Given the description of an element on the screen output the (x, y) to click on. 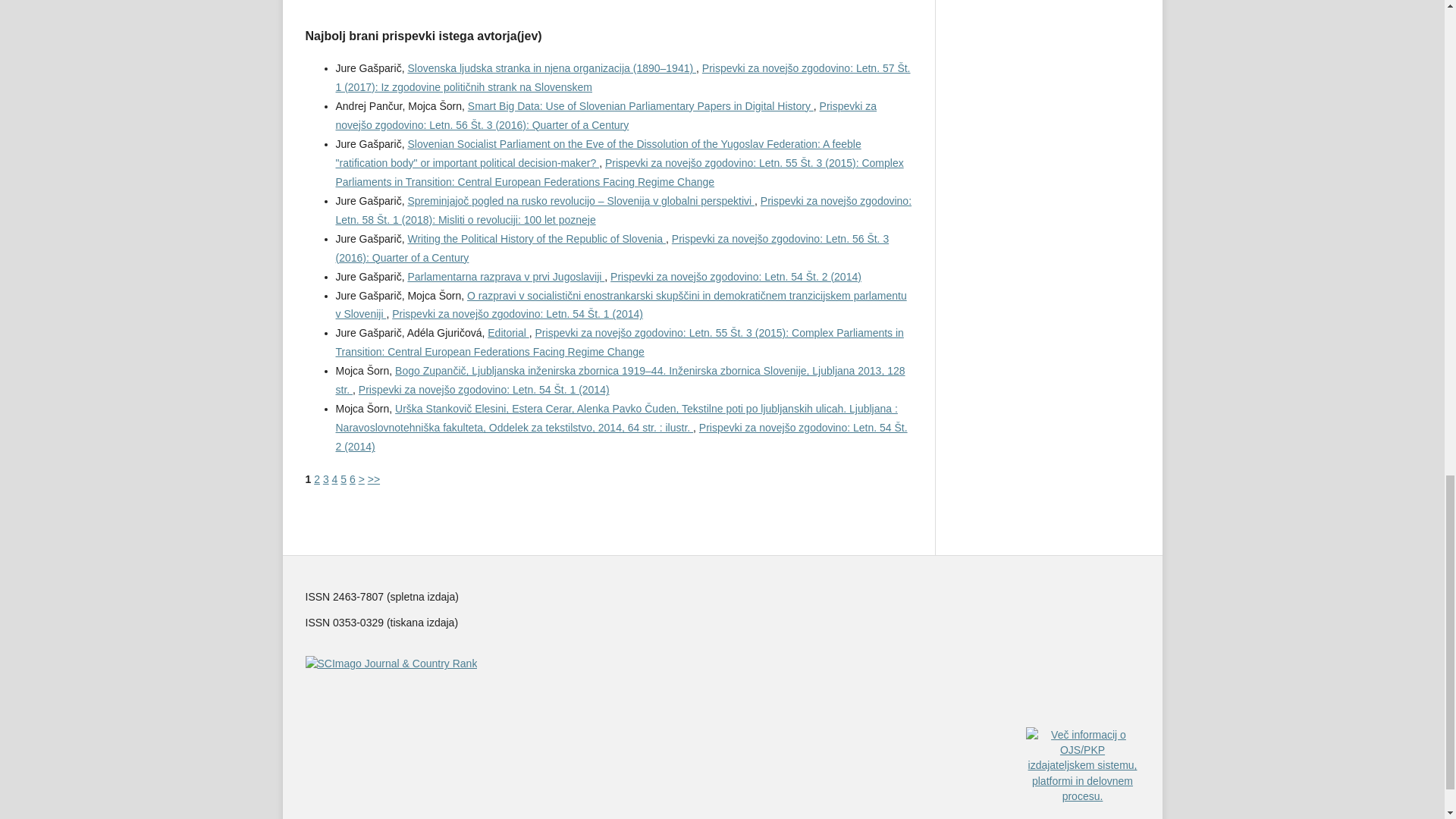
Parlamentarna razprava v prvi Jugoslaviji (505, 276)
Writing the Political History of the Republic of Slovenia (536, 238)
